Given the description of an element on the screen output the (x, y) to click on. 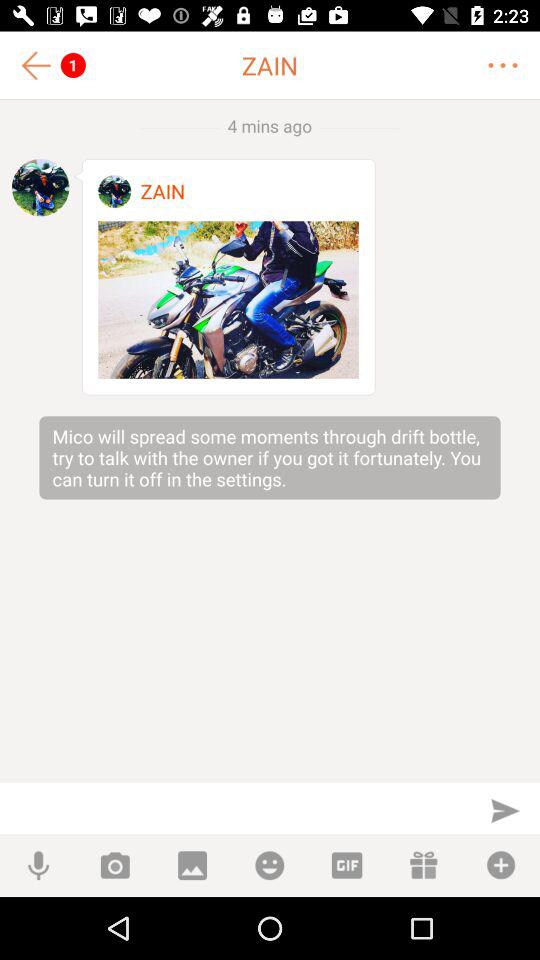
microphone off (38, 865)
